Given the description of an element on the screen output the (x, y) to click on. 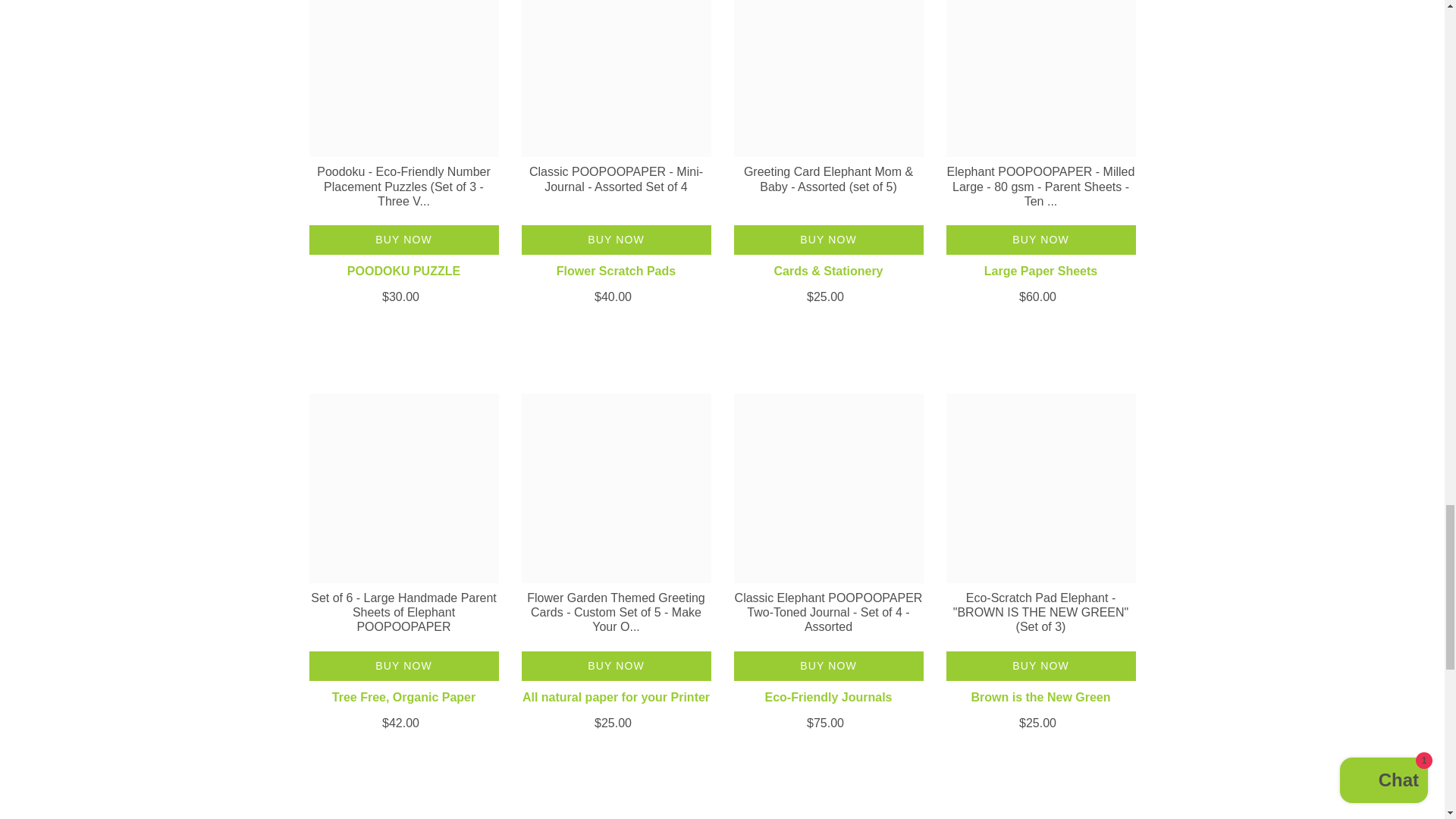
Buy Now (616, 665)
Buy Now (403, 239)
Buy Now (1040, 239)
Buy Now (1040, 665)
Buy Now (828, 665)
Buy Now (616, 239)
Buy Now (403, 665)
Buy Now (828, 239)
